Given the description of an element on the screen output the (x, y) to click on. 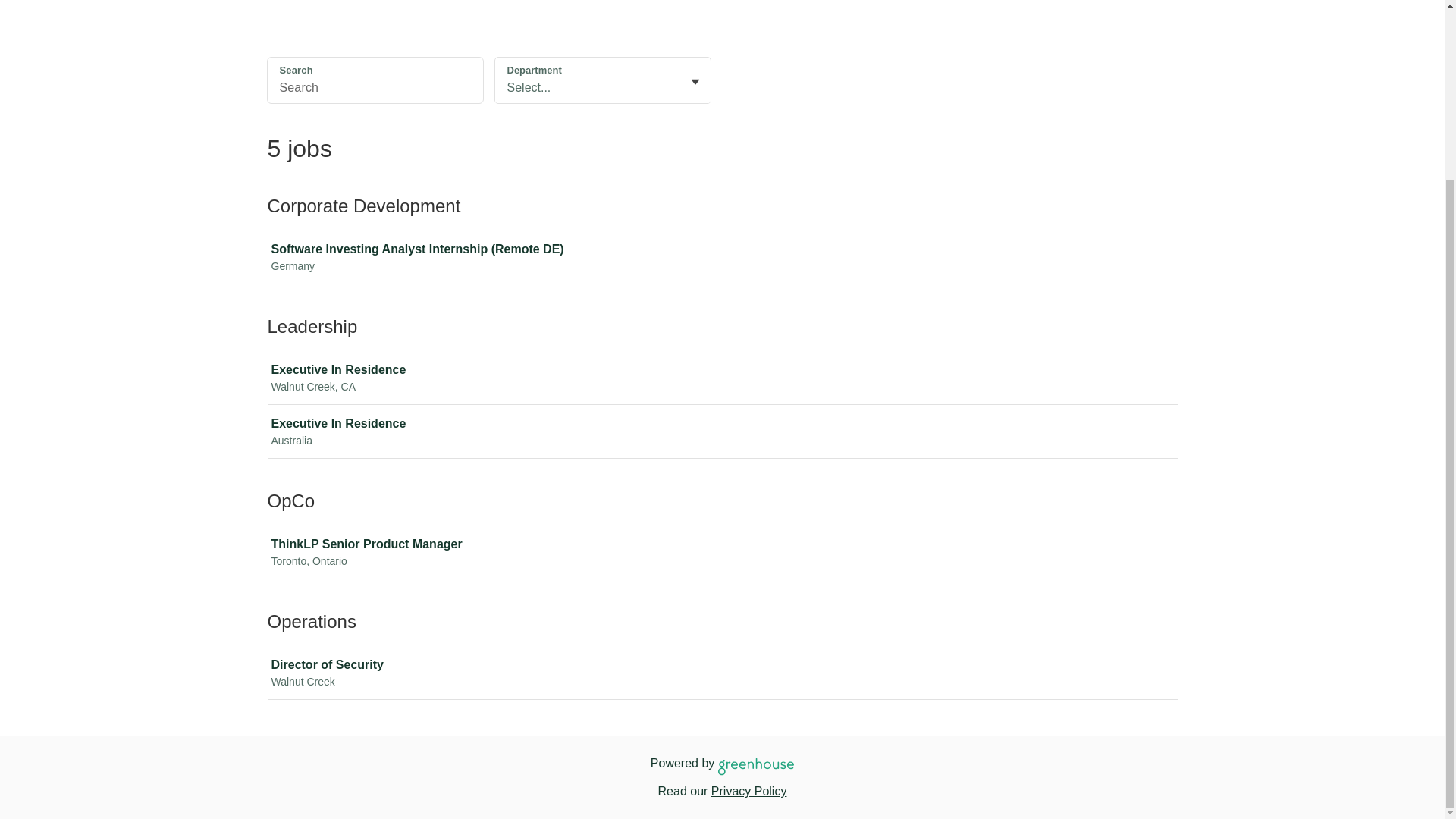
Privacy Policy (724, 377)
